Given the description of an element on the screen output the (x, y) to click on. 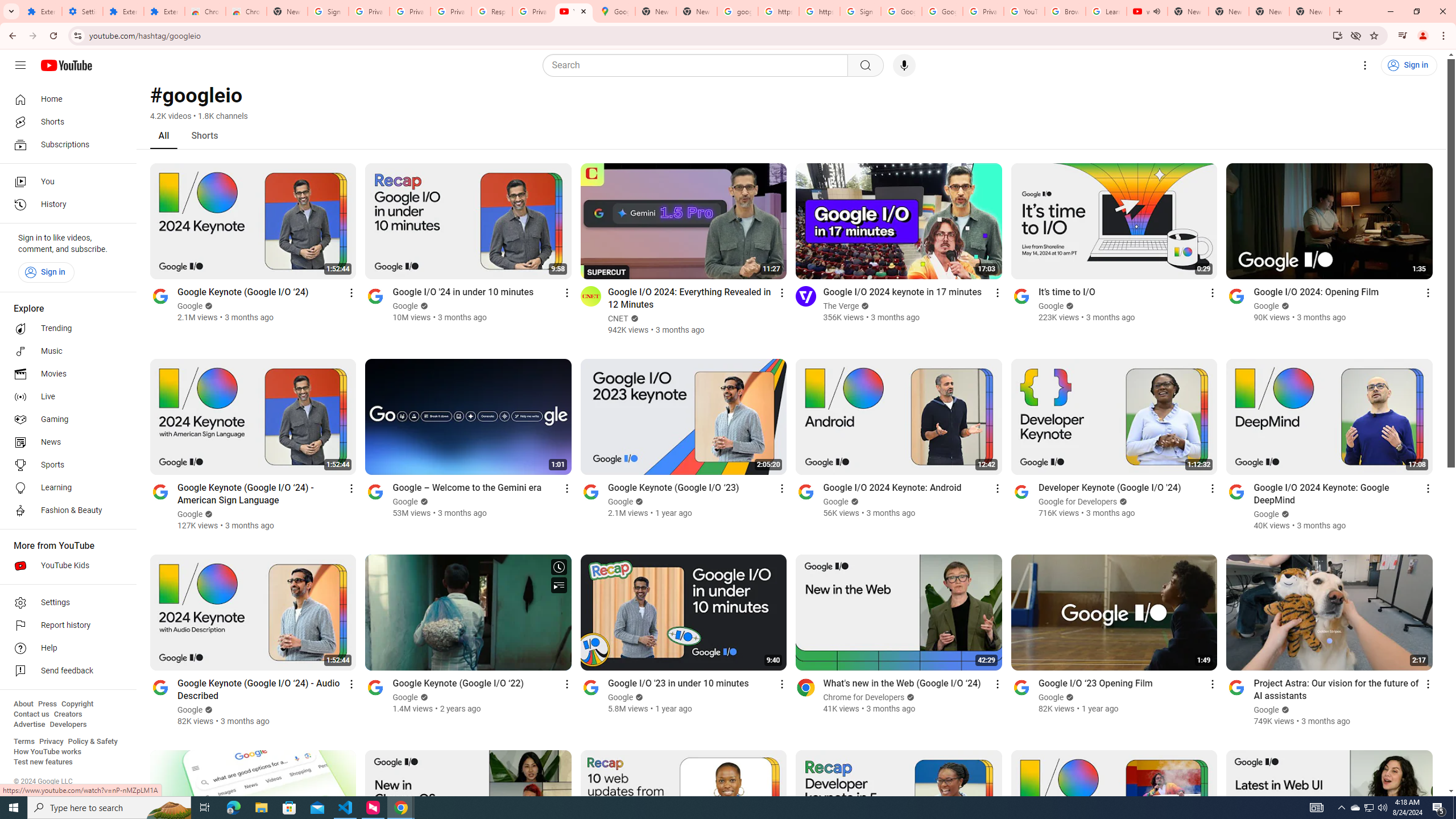
Mute tab (1156, 10)
Subscriptions (64, 144)
New Tab (287, 11)
Verified (1284, 709)
YouTube Home (66, 65)
Chrome Web Store - Themes (246, 11)
CNET (617, 318)
